Given the description of an element on the screen output the (x, y) to click on. 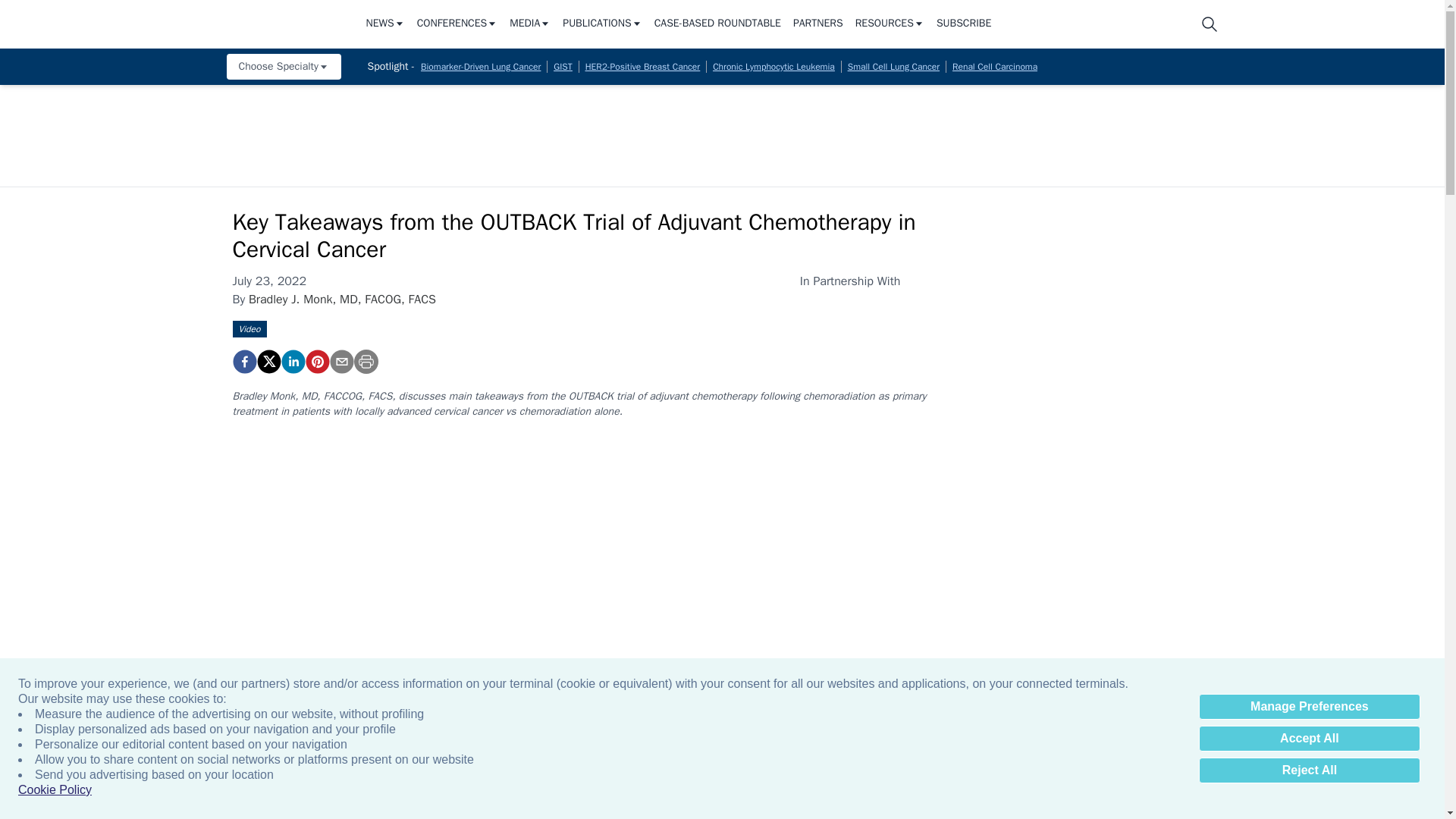
Accept All (1309, 738)
Cookie Policy (54, 789)
Manage Preferences (1309, 706)
CONFERENCES (456, 23)
CASE-BASED ROUNDTABLE (716, 23)
RESOURCES (890, 23)
Reject All (1309, 769)
PARTNERS (818, 23)
PUBLICATIONS (602, 23)
NEWS (384, 23)
MEDIA (529, 23)
